Given the description of an element on the screen output the (x, y) to click on. 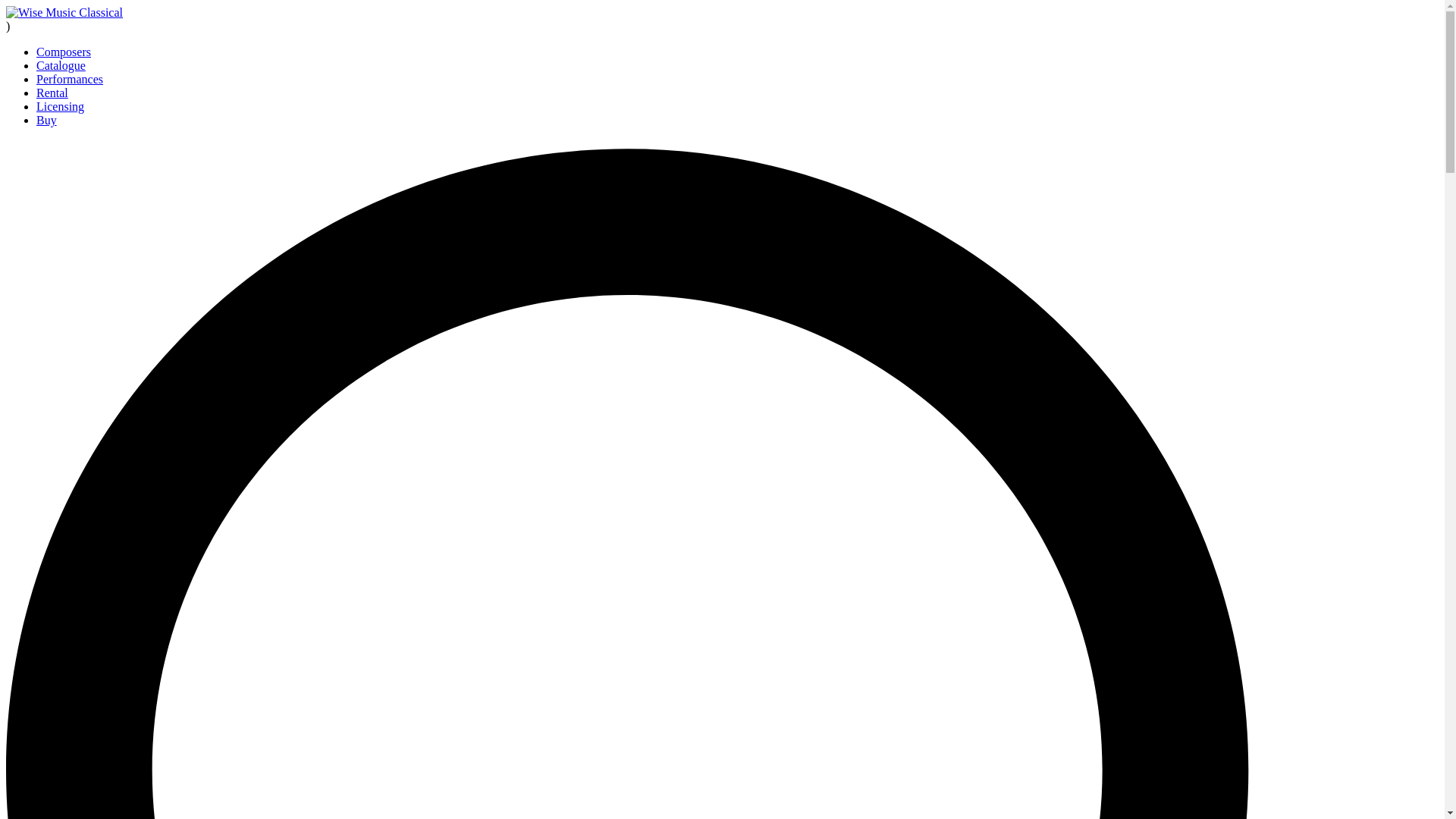
Catalogue (60, 65)
Composers (63, 51)
Licensing (60, 106)
Rental (52, 92)
Buy (46, 119)
Performances (69, 78)
